Given the description of an element on the screen output the (x, y) to click on. 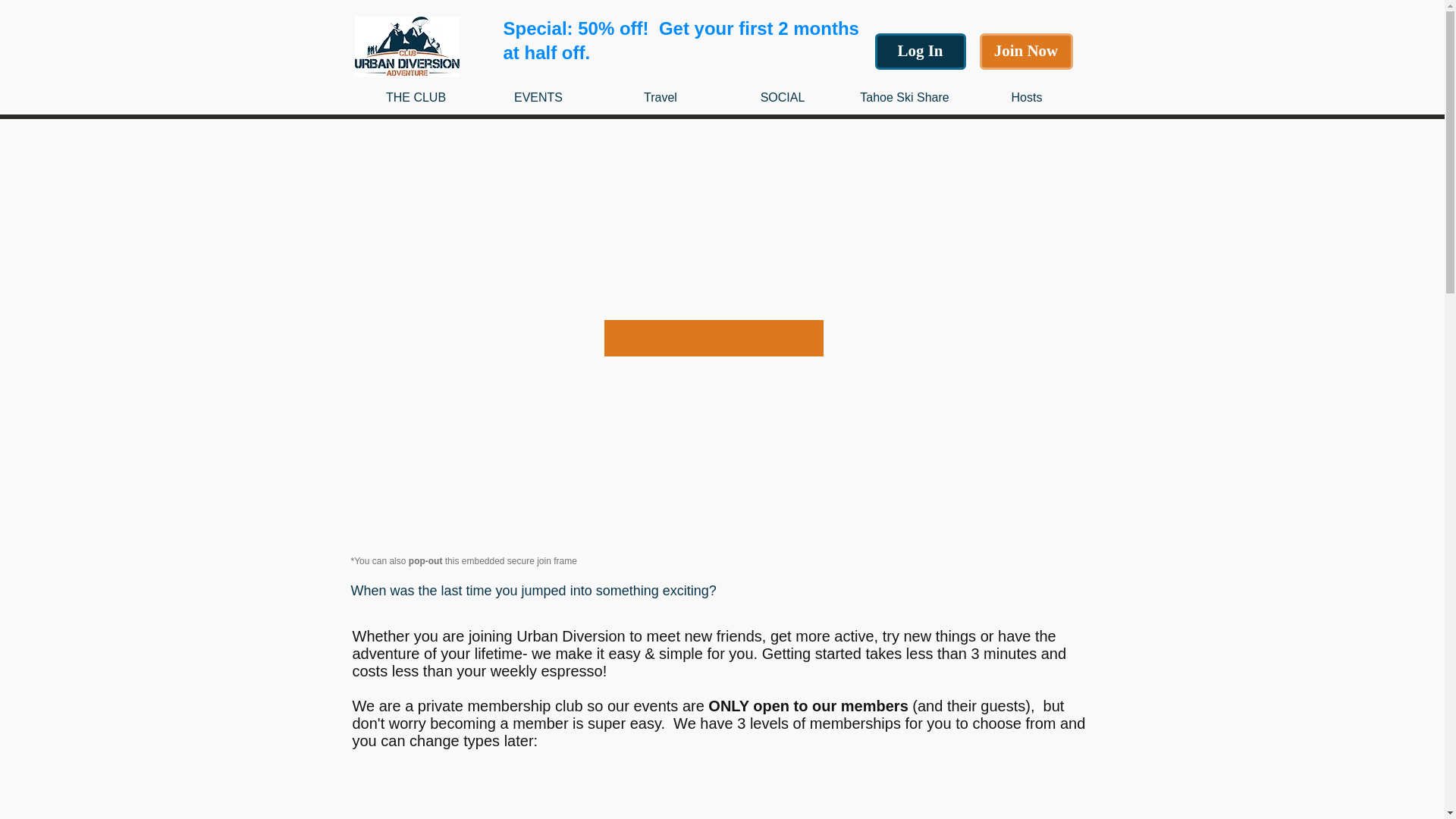
Hosts (1026, 97)
Join Now (1026, 51)
EVENTS (538, 97)
SOCIAL (783, 97)
Tahoe Ski Share (904, 97)
THE CLUB (416, 97)
Travel (659, 97)
Log In (920, 51)
